Given the description of an element on the screen output the (x, y) to click on. 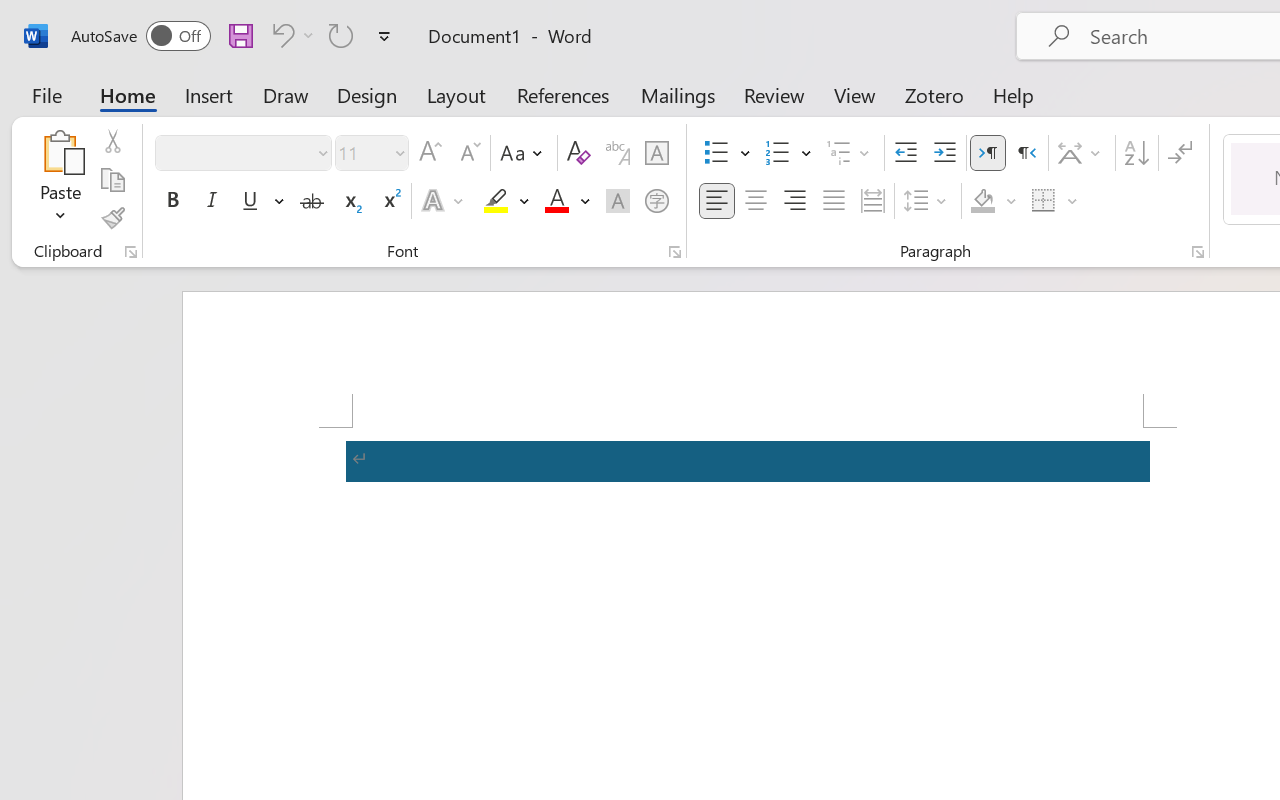
Undo Apply Quick Style Set (280, 35)
